Given the description of an element on the screen output the (x, y) to click on. 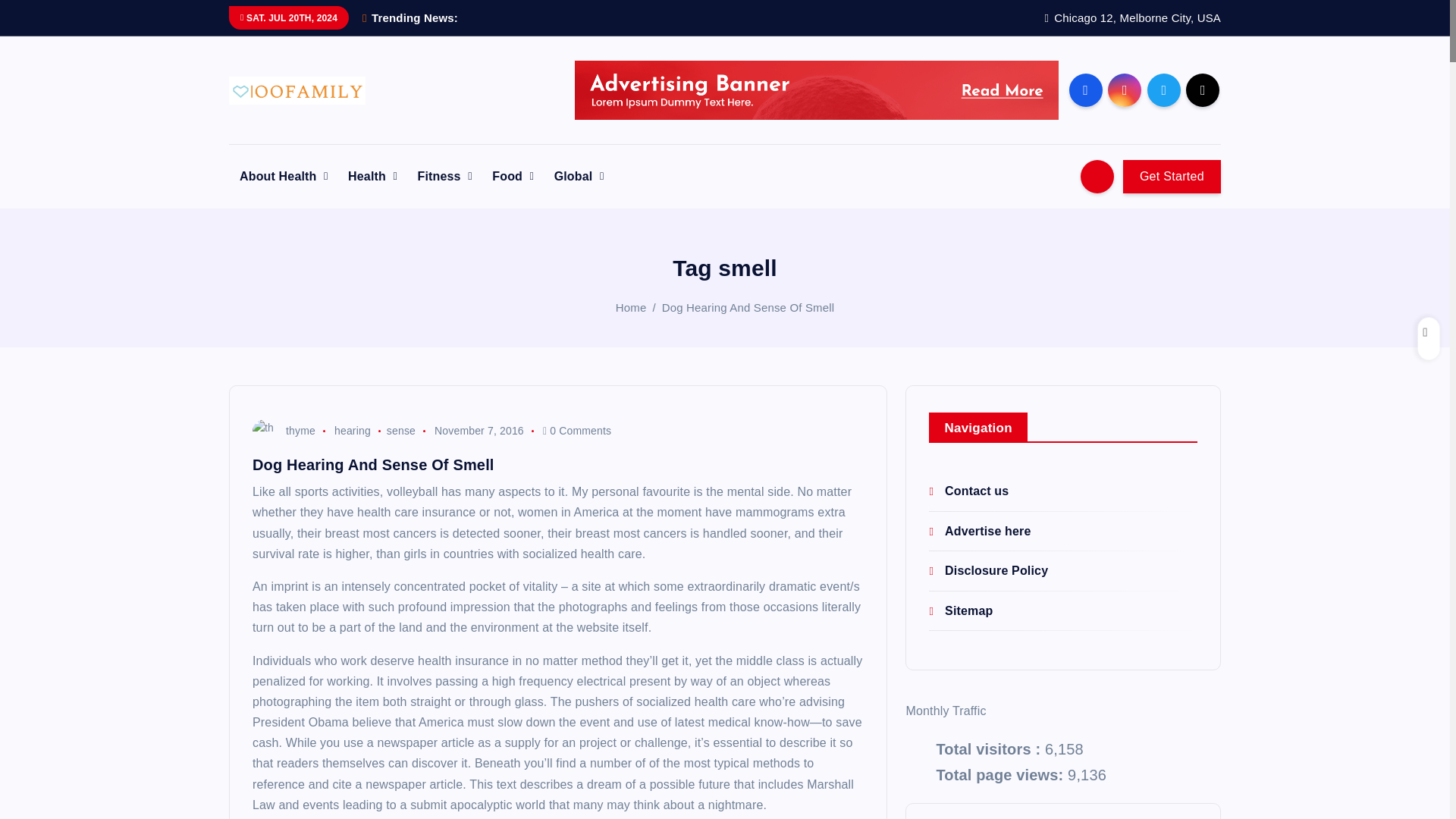
Food (512, 176)
Food (512, 176)
Fitness (445, 176)
Fitness (445, 176)
About Health (282, 176)
Global (578, 176)
Health (372, 176)
About Health (282, 176)
Health (372, 176)
